Given the description of an element on the screen output the (x, y) to click on. 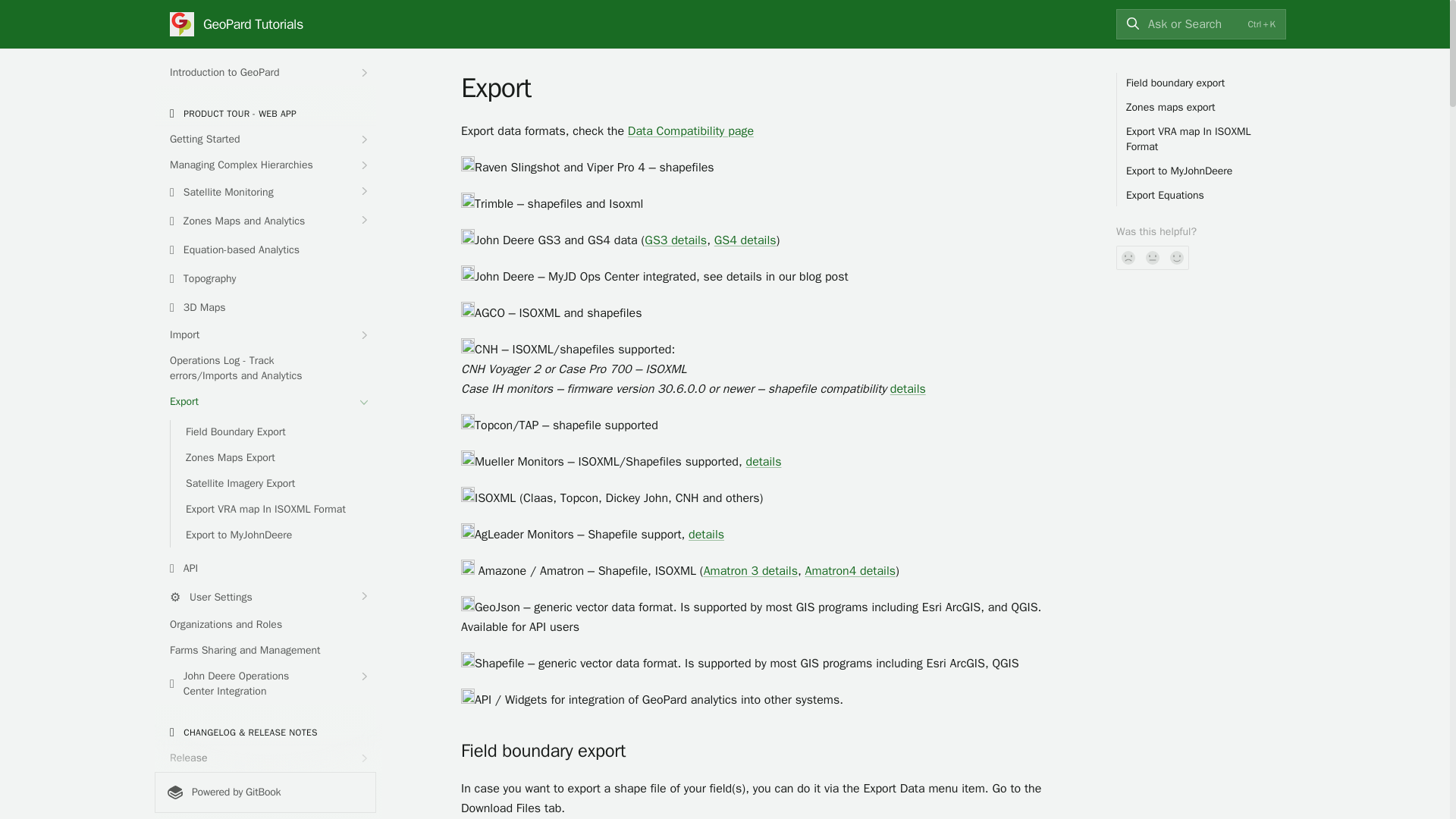
Not sure (1152, 257)
Yes, it was! (1176, 257)
GeoPard Tutorials (236, 24)
Getting Started (264, 139)
Introduction to GeoPard (264, 72)
No (1128, 257)
Managing Complex Hierarchies (264, 165)
Import (264, 334)
